Given the description of an element on the screen output the (x, y) to click on. 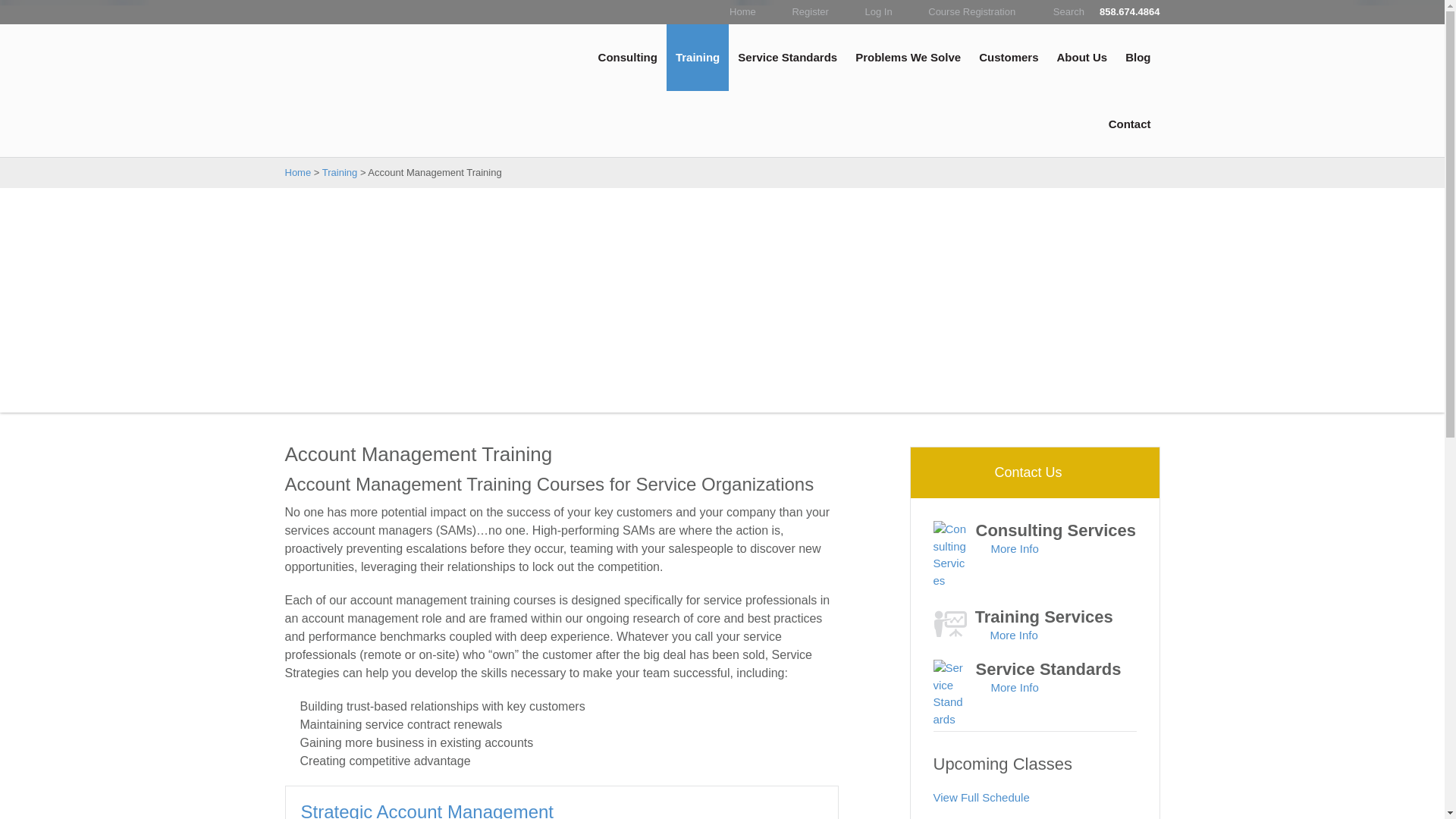
Home (741, 12)
Consulting (627, 57)
Service Strategies (368, 58)
Training (697, 57)
Register (808, 12)
Log In (876, 12)
Log In (876, 12)
Course Registration (970, 12)
Home (741, 12)
Consulting (627, 57)
Register (808, 12)
Training (697, 57)
